Given the description of an element on the screen output the (x, y) to click on. 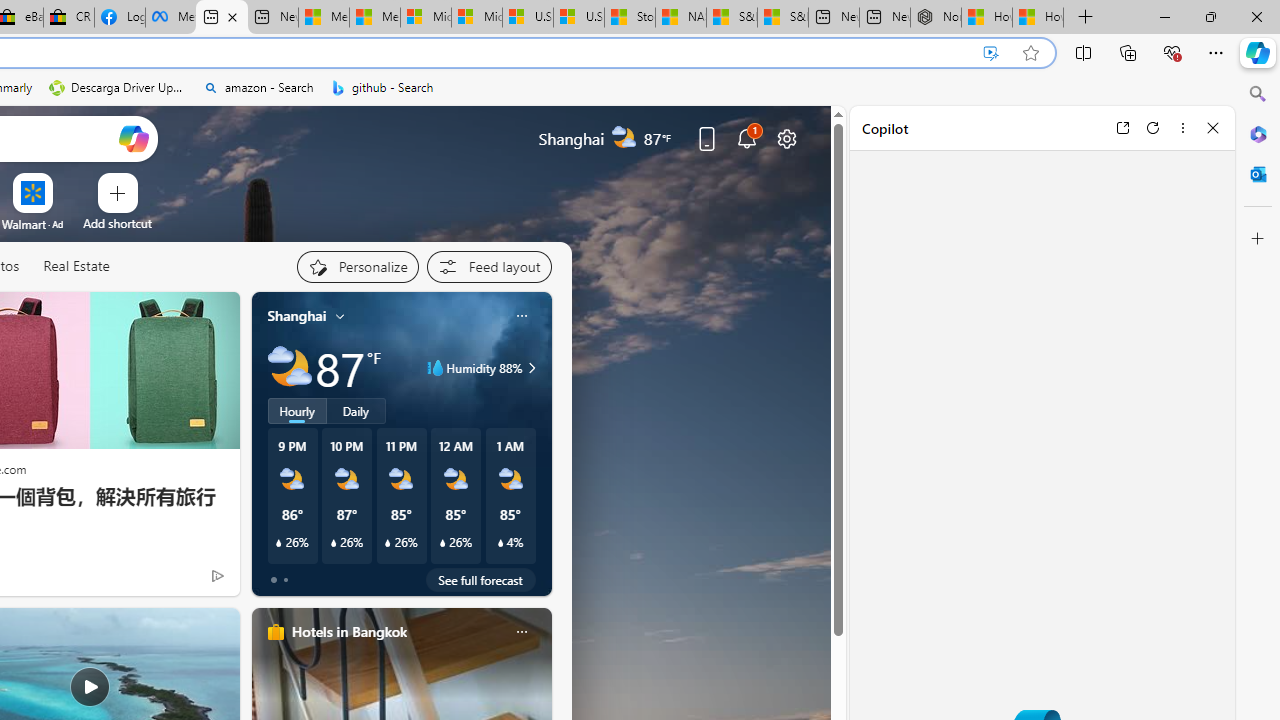
github - Search (381, 88)
Add a site (117, 223)
Shanghai (296, 315)
Class: weather-arrow-glyph (531, 367)
Customize (1258, 239)
Open link in new tab (1122, 127)
